Given the description of an element on the screen output the (x, y) to click on. 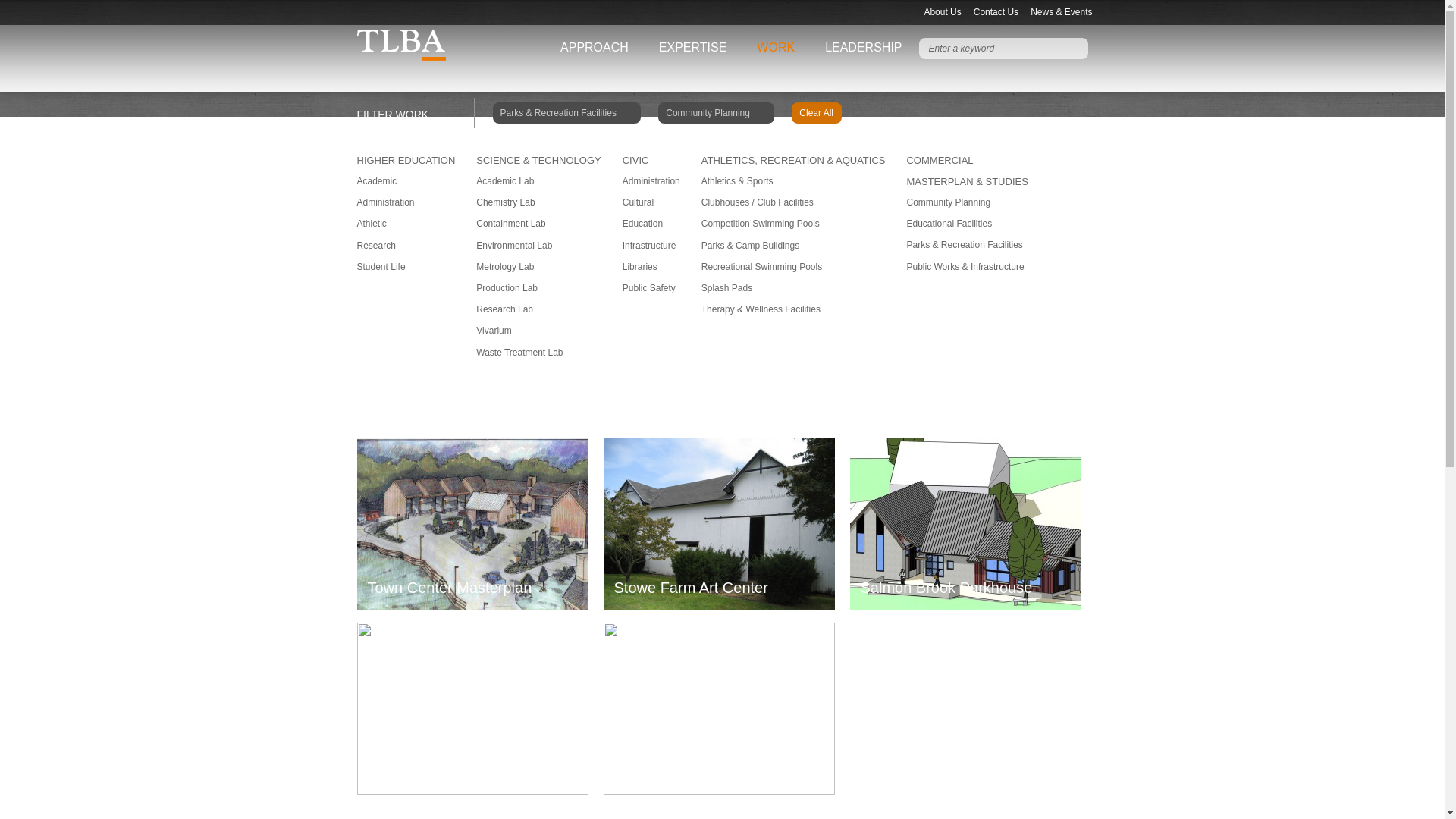
Libraries (640, 266)
About Us (941, 11)
Search (1076, 47)
Recreational Swimming Pools (761, 266)
Waste Treatment Lab (519, 352)
APPROACH (594, 47)
Cultural (638, 202)
Competition Swimming Pools (760, 223)
Administration (384, 202)
Research Lab (504, 308)
Athletic (370, 223)
Community Planning (716, 112)
Production Lab (506, 287)
Academic Lab (505, 181)
WORK (775, 47)
